Given the description of an element on the screen output the (x, y) to click on. 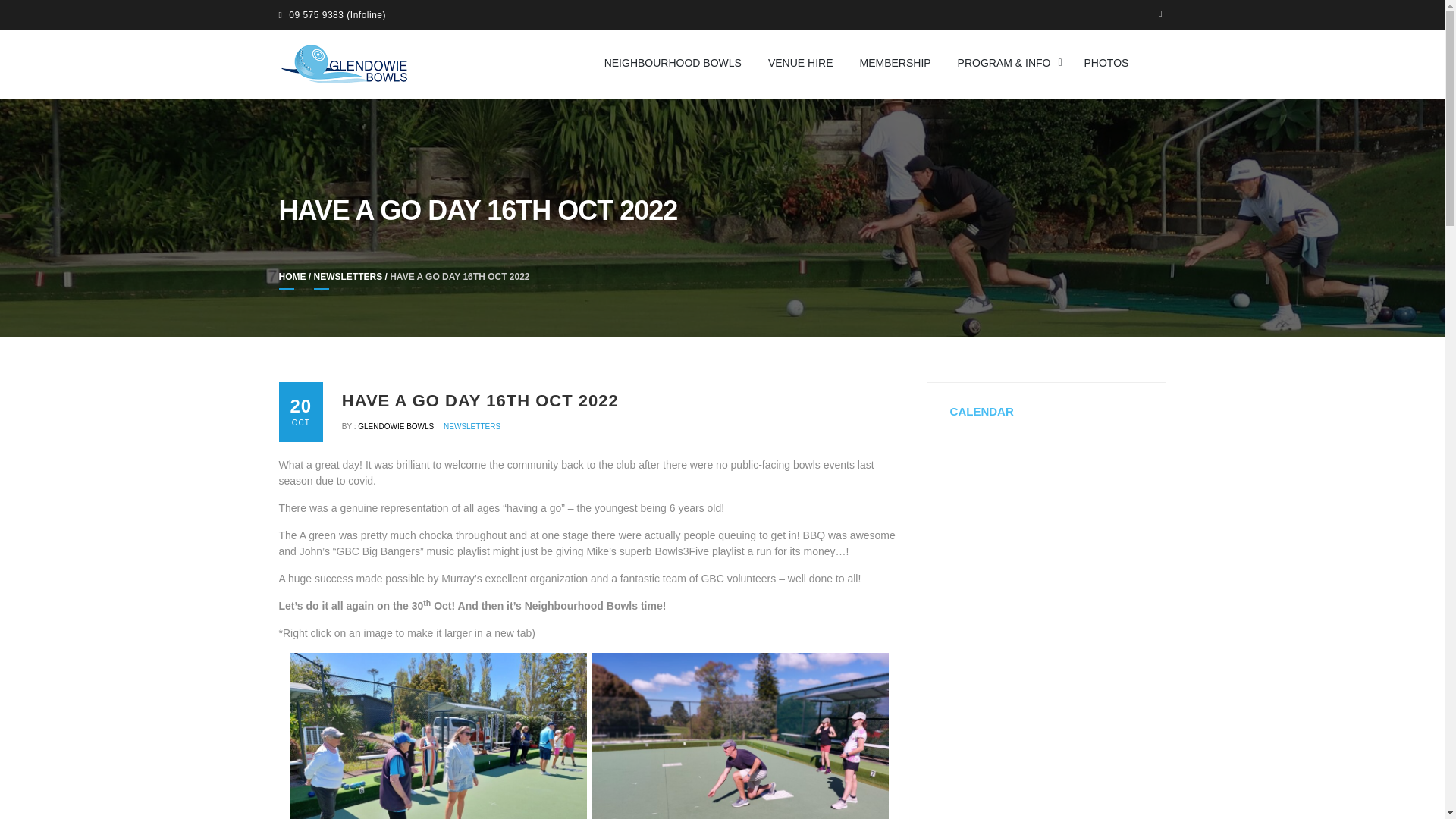
NEWSLETTERS (472, 425)
VENUE HIRE (800, 62)
GLENDOWIE BOWLING CLUB GBC (591, 51)
PHOTOS (1107, 62)
MEMBERSHIP (894, 62)
HOME (292, 280)
NEIGHBOURHOOD BOWLS (673, 62)
NEWSLETTERS (348, 280)
GLENDOWIE BOWLS (396, 425)
